Given the description of an element on the screen output the (x, y) to click on. 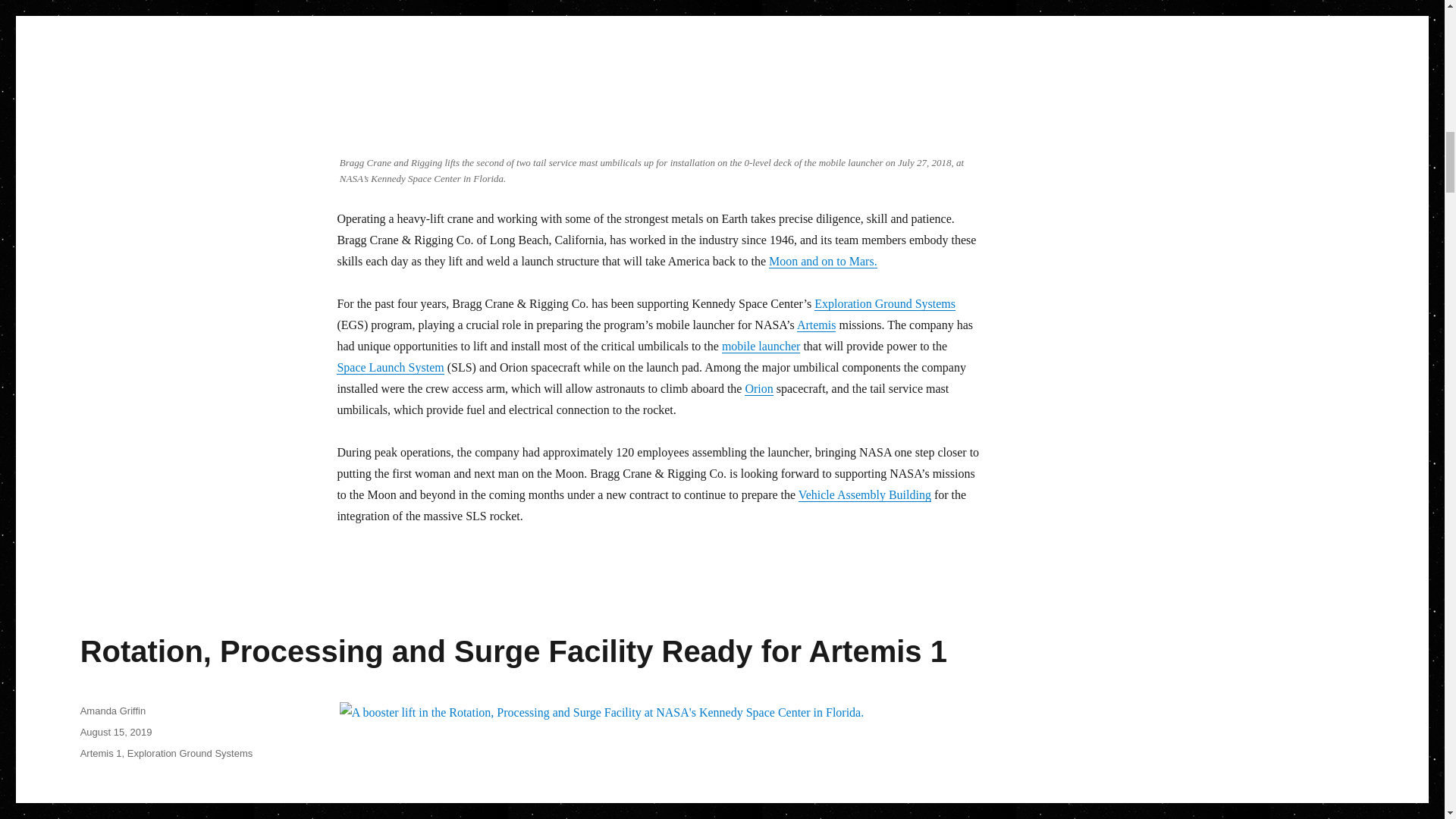
Orion (758, 388)
Vehicle Assembly Building (864, 494)
Artemis (815, 324)
mobile launcher (761, 345)
Exploration Ground Systems (884, 303)
Moon and on to Mars. (822, 260)
August 15, 2019 (116, 731)
Rotation, Processing and Surge Facility Ready for Artemis 1 (513, 651)
Amanda Griffin (112, 710)
Space Launch System (390, 367)
